Given the description of an element on the screen output the (x, y) to click on. 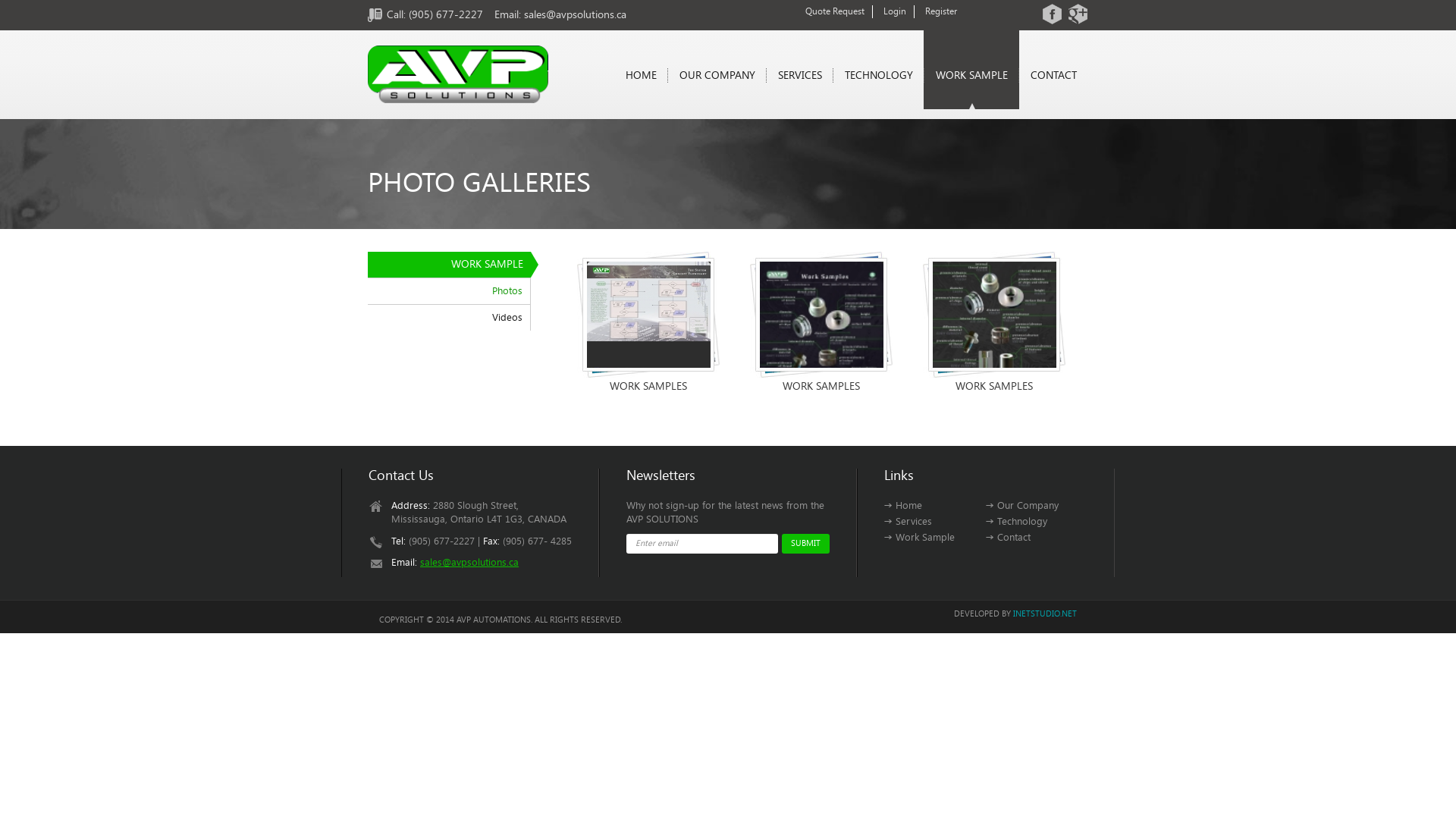
Work Sample Element type: text (919, 536)
Technology Element type: text (1016, 521)
Home Element type: text (903, 505)
HOME Element type: text (641, 75)
OUR COMPANY Element type: text (716, 75)
Videos Element type: text (448, 317)
sales@avpsolutions.ca Element type: text (575, 14)
Services Element type: text (907, 521)
Facebook Element type: text (1052, 13)
TECHNOLOGY Element type: text (878, 75)
googlePlus Element type: text (1078, 13)
SUBMIT Element type: text (805, 543)
Contact Element type: text (1007, 536)
Login Element type: text (894, 11)
SERVICES Element type: text (799, 75)
Register Element type: text (941, 11)
Quote Request Element type: text (834, 11)
CONTACT Element type: text (1053, 75)
WORK SAMPLE Element type: text (971, 75)
INETSTUDIO.NET Element type: text (1044, 613)
Photos Element type: text (448, 290)
Our Company Element type: text (1021, 505)
sales@avpsolutions.ca Element type: text (469, 561)
